Given the description of an element on the screen output the (x, y) to click on. 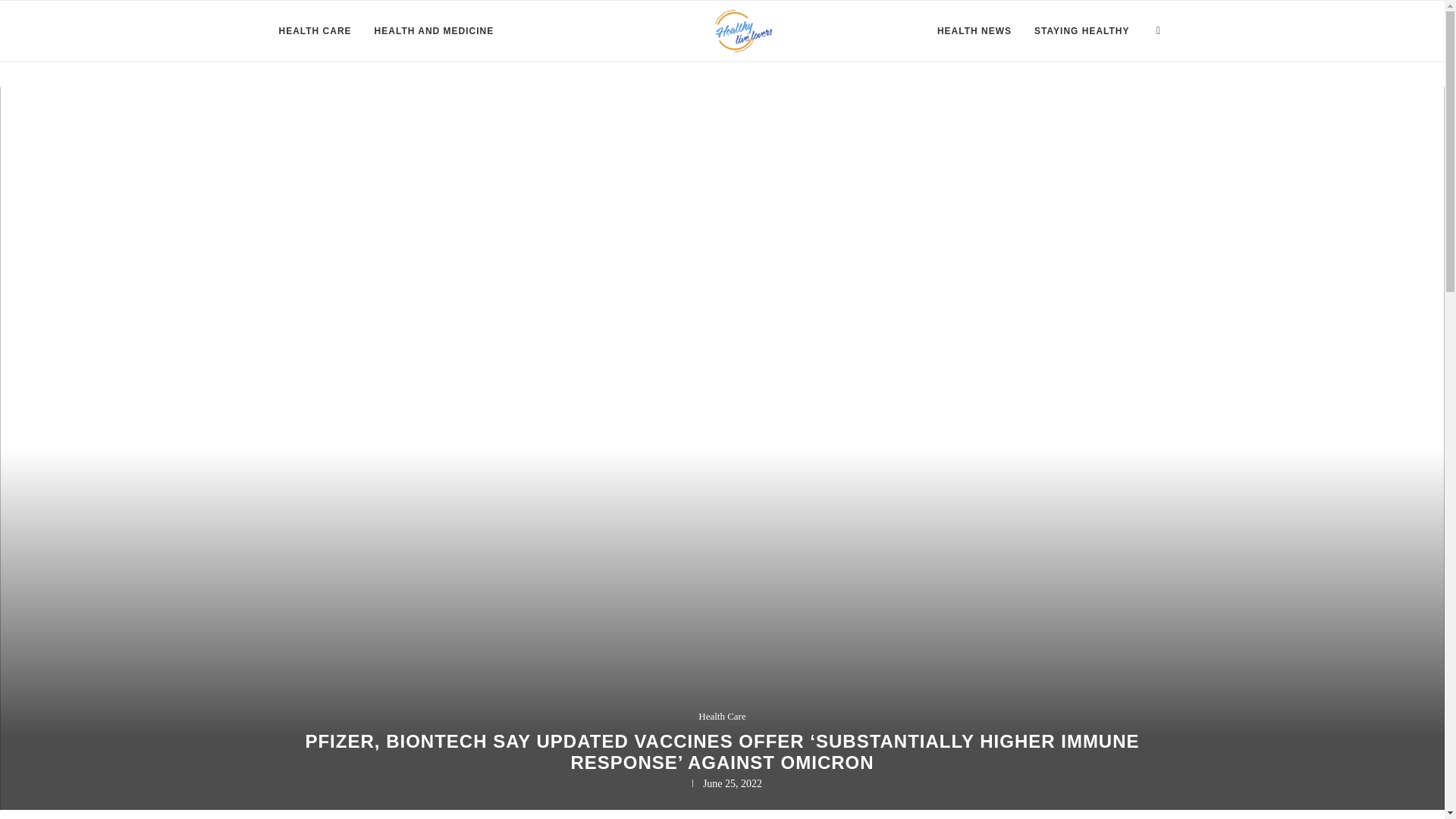
HEALTH CARE (315, 30)
STAYING HEALTHY (1081, 30)
HEALTH NEWS (974, 30)
Health Care (721, 716)
HEALTH AND MEDICINE (434, 30)
